Given the description of an element on the screen output the (x, y) to click on. 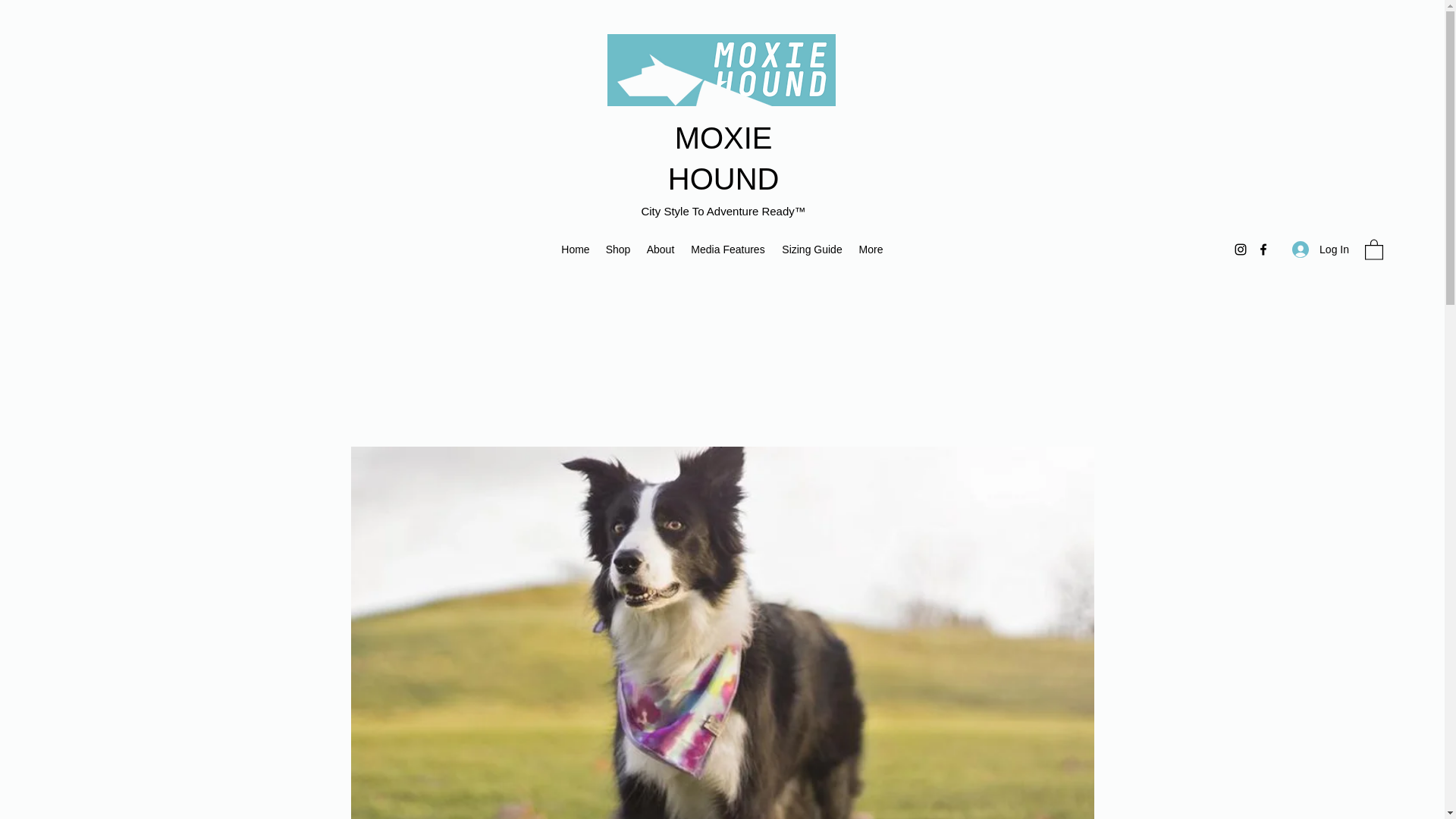
About (660, 249)
Shop (617, 249)
Home (574, 249)
MOXIE HOUND (723, 158)
Media Features (727, 249)
Sizing Guide (811, 249)
Log In (1320, 249)
